Given the description of an element on the screen output the (x, y) to click on. 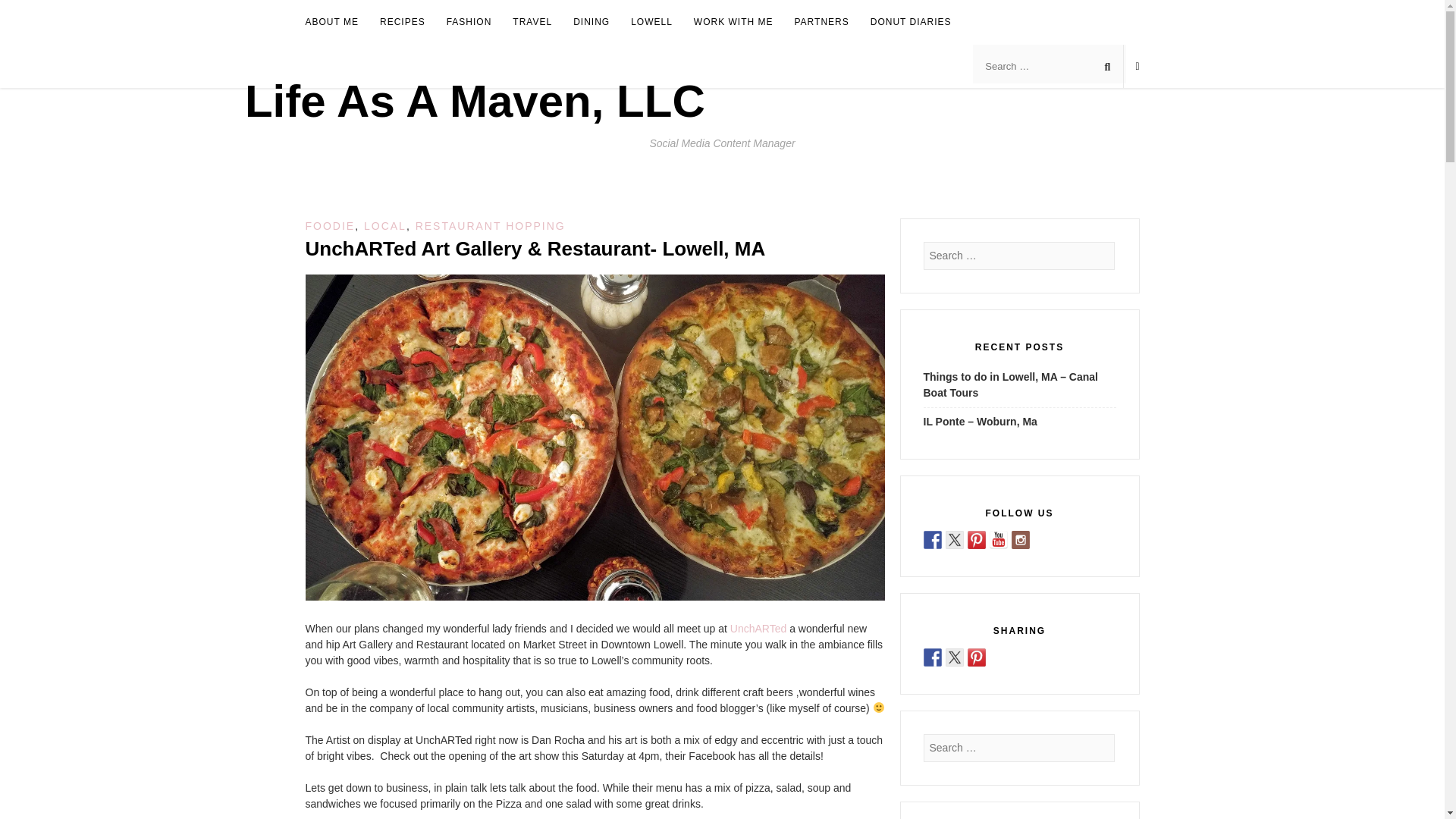
LOCAL (385, 225)
DONUT DIARIES (911, 22)
WORK WITH ME (733, 22)
RECIPES (402, 22)
RESTAURANT HOPPING (490, 225)
Follow us on Facebook (932, 539)
FOODIE (329, 225)
Follow us on Twitter (953, 539)
Search (26, 12)
Life As A Maven, LLC (474, 101)
Our board on Pinterest (976, 539)
UnchARTed (758, 628)
FASHION (469, 22)
LOWELL (651, 22)
ABOUT ME (331, 22)
